Given the description of an element on the screen output the (x, y) to click on. 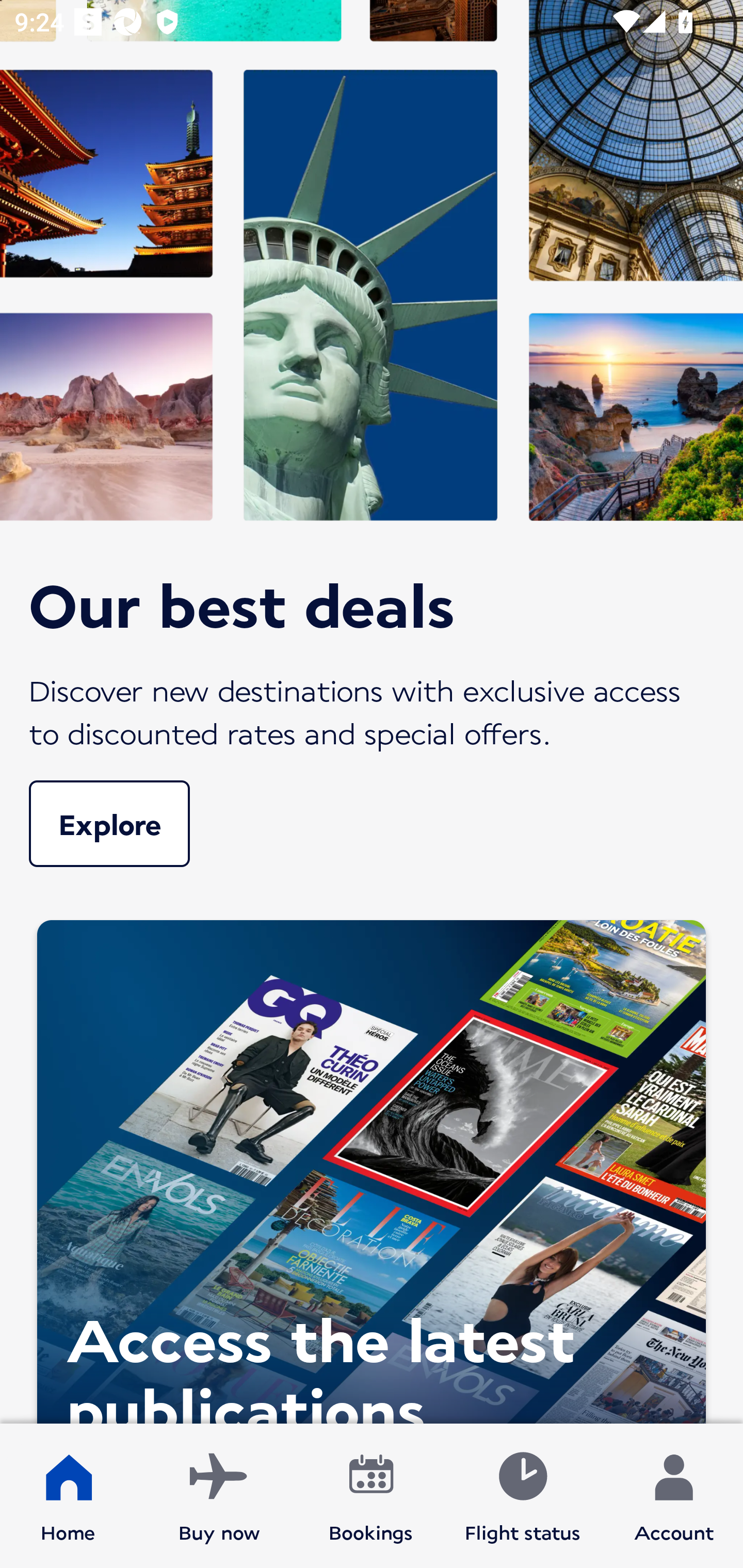
Access the latest publications (371, 1167)
Buy now (219, 1495)
Bookings (370, 1495)
Flight status (522, 1495)
Account (674, 1495)
